Given the description of an element on the screen output the (x, y) to click on. 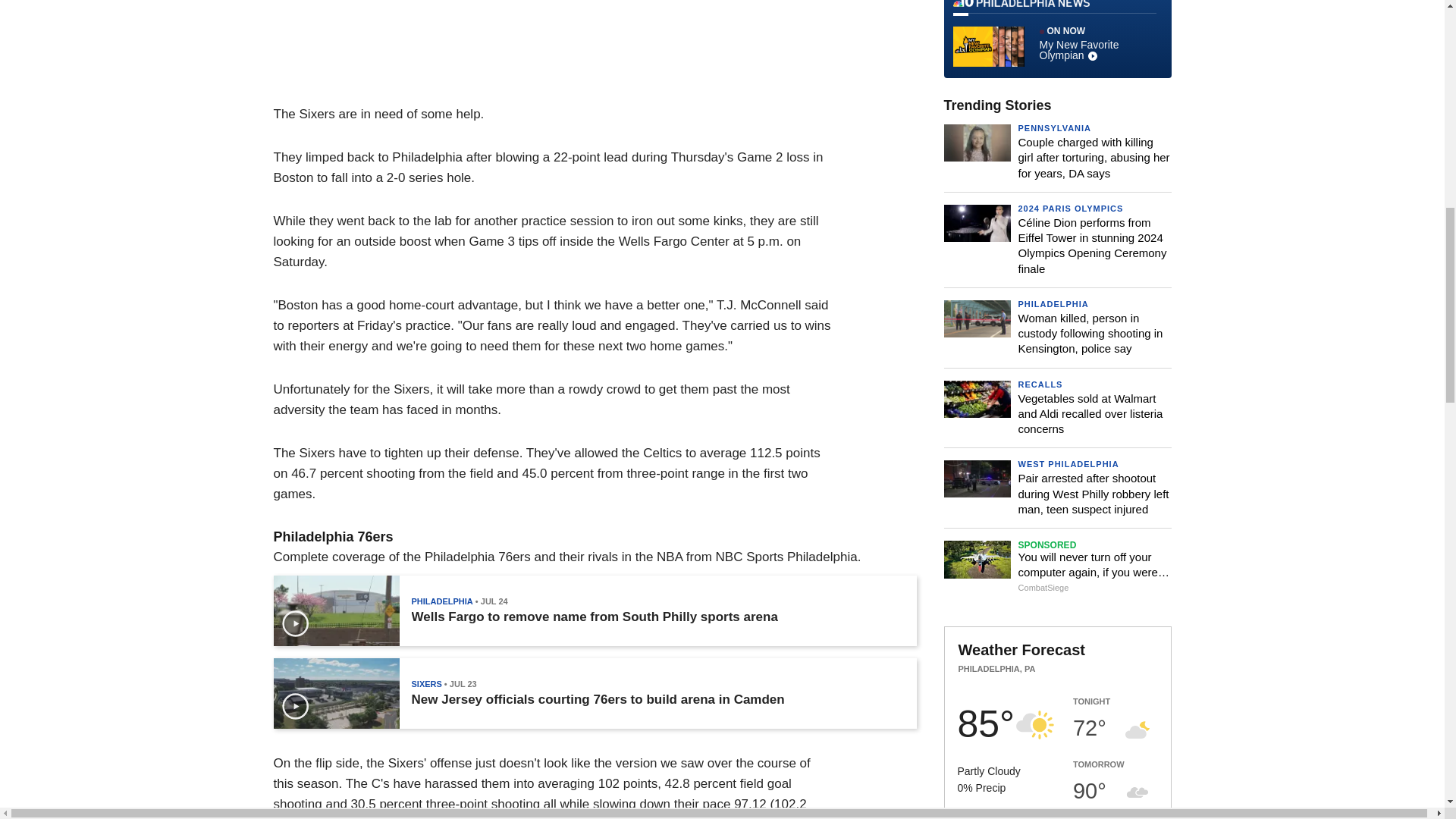
New Jersey officials courting 76ers to build arena in Camden (597, 699)
SIXERS (425, 683)
PHILADELPHIA (440, 601)
Wells Fargo to remove name from South Philly sports arena (593, 616)
